Given the description of an element on the screen output the (x, y) to click on. 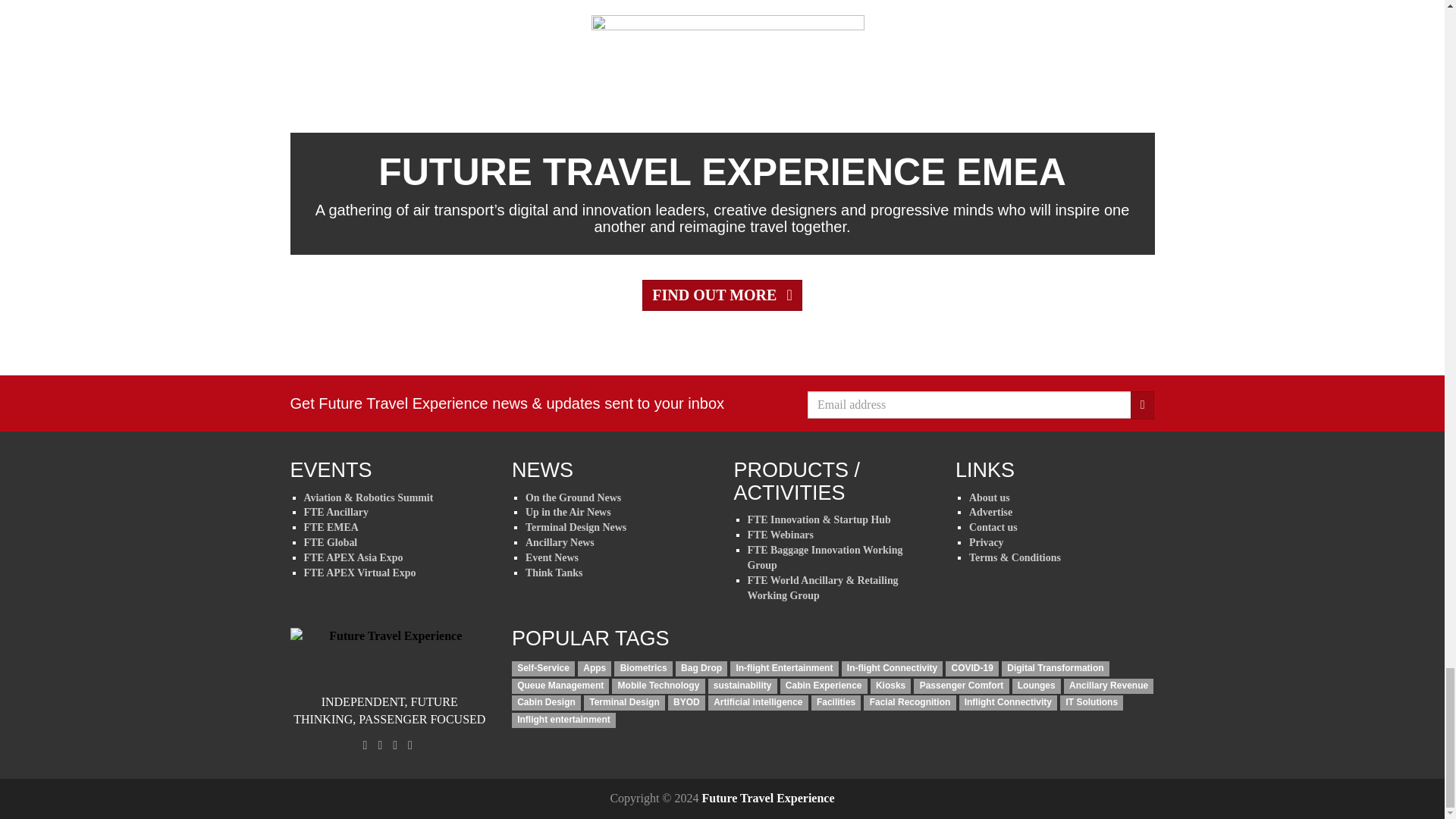
In-flight Connectivity (892, 668)
Apps (594, 668)
Self-Service (543, 668)
COVID-19 (971, 668)
In-flight Entertainment (784, 668)
Digital Transformation (1055, 668)
Bag Drop (700, 668)
Biometrics (642, 668)
